Given the description of an element on the screen output the (x, y) to click on. 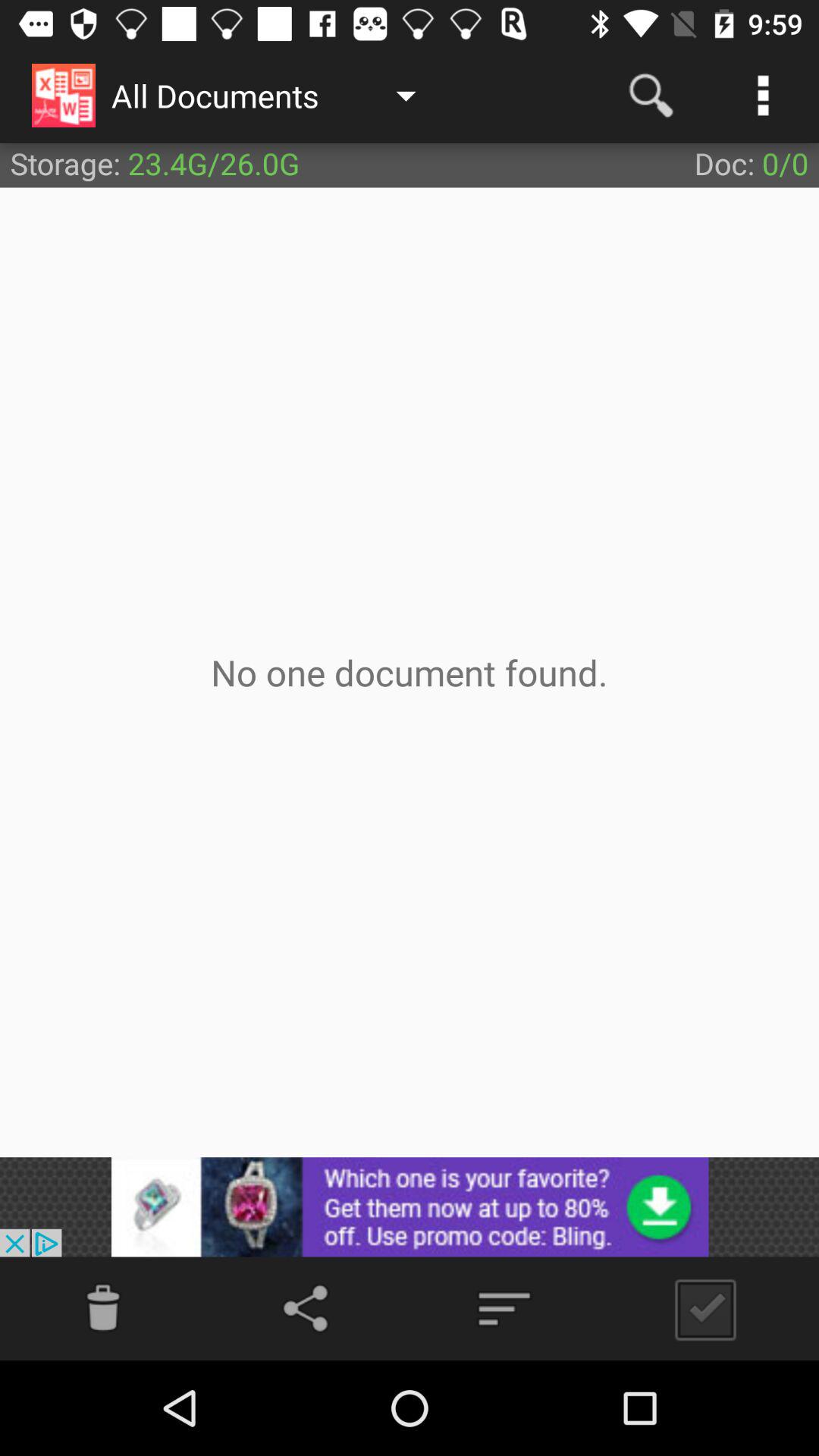
menu (503, 1308)
